Given the description of an element on the screen output the (x, y) to click on. 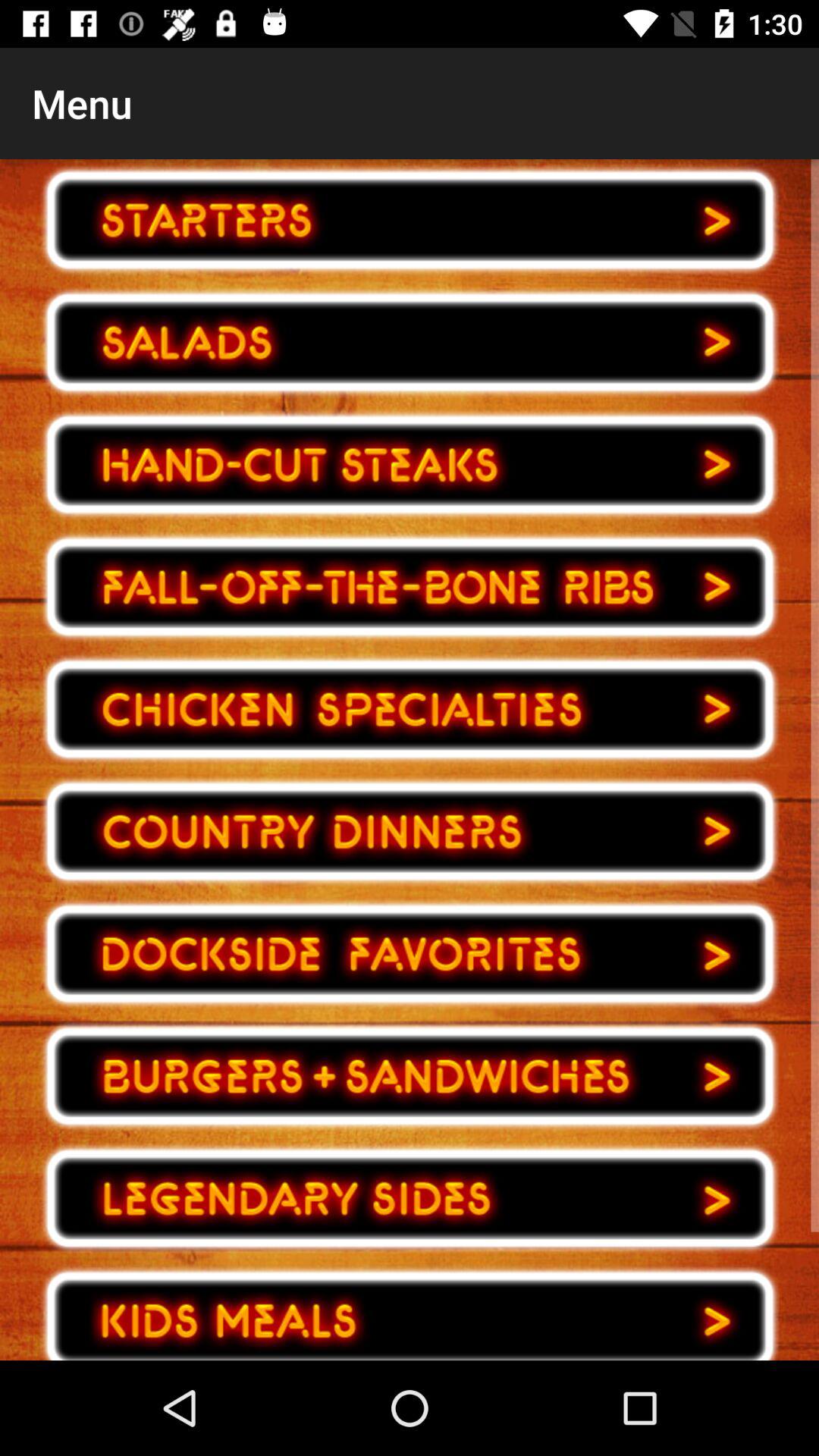
choose food (409, 1076)
